Given the description of an element on the screen output the (x, y) to click on. 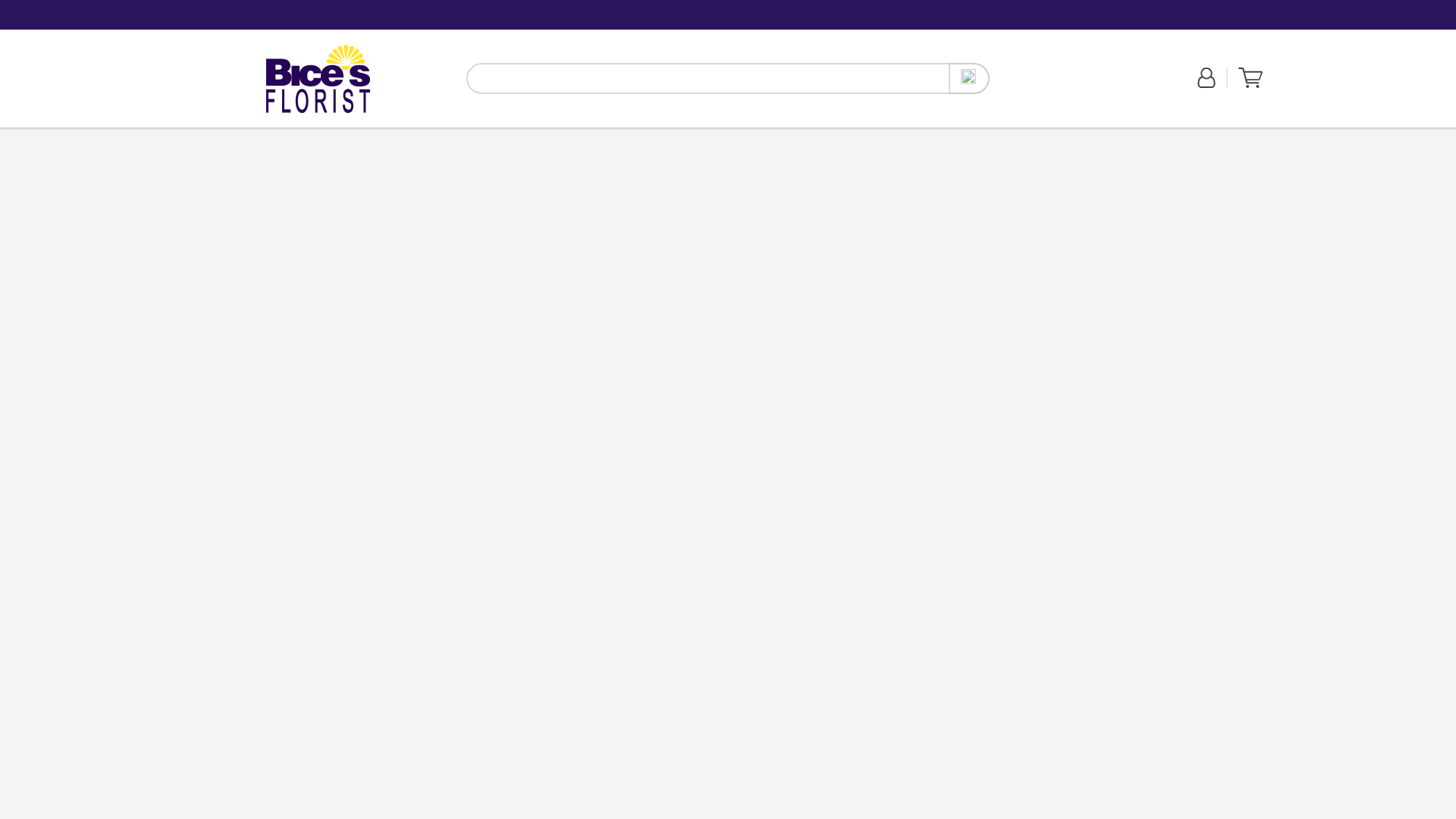
Search (969, 78)
Just Because (377, 135)
Bice's Florist Logo (318, 78)
Back to the Home Page (317, 79)
Sympathy (318, 78)
View Your Shopping Cart (430, 136)
Birthday (1250, 77)
Get Well (292, 135)
View Your Shopping Cart (330, 135)
